Given the description of an element on the screen output the (x, y) to click on. 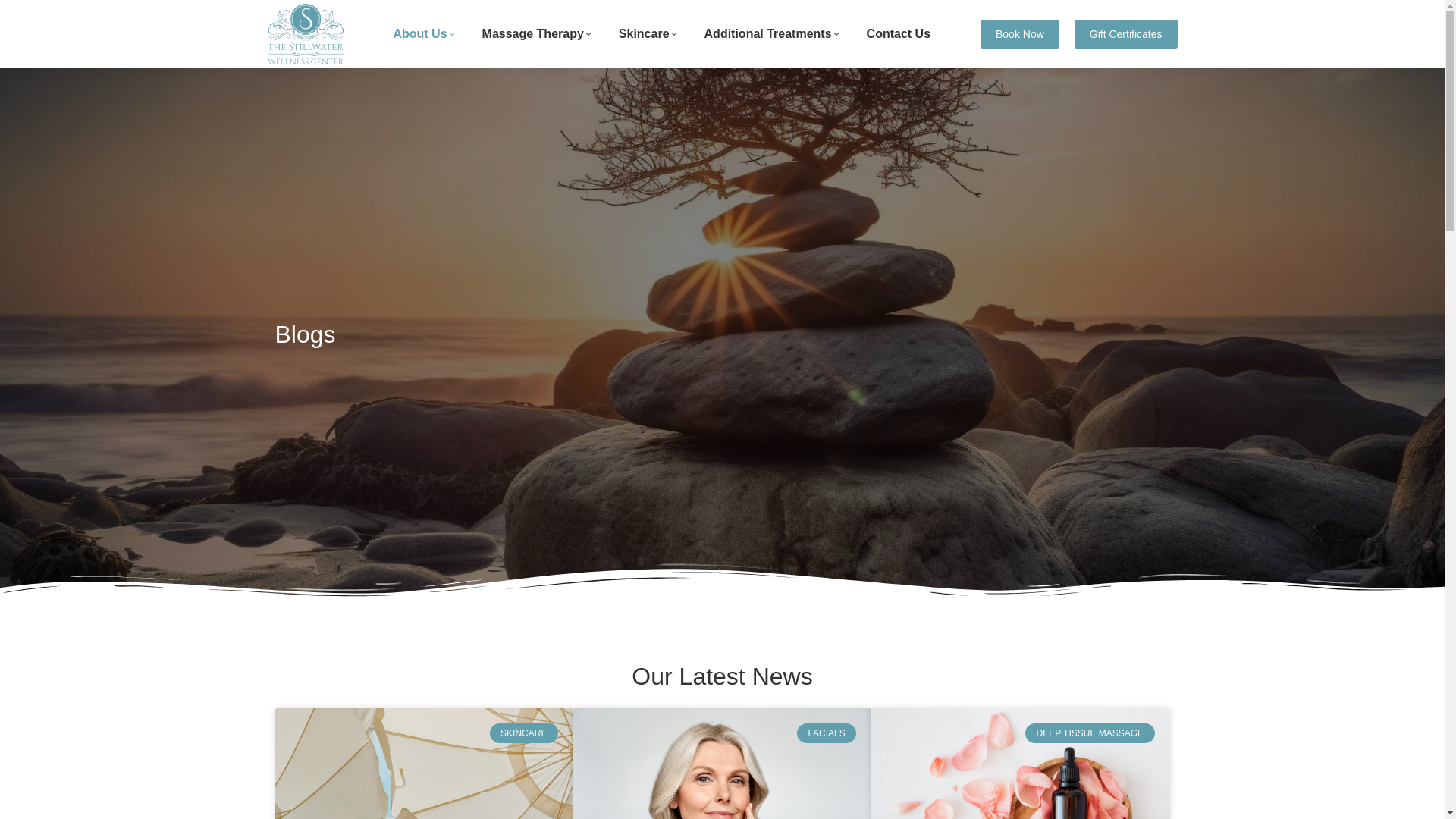
About Us (423, 33)
Massage Therapy (536, 33)
Additional Treatments (772, 33)
Contact Us (898, 33)
Skincare (647, 33)
Gift Certificates (1125, 33)
Book Now (1019, 33)
About The Stillwater Wellness Center (423, 33)
Massage Therapy (536, 33)
Skincare (647, 33)
